Given the description of an element on the screen output the (x, y) to click on. 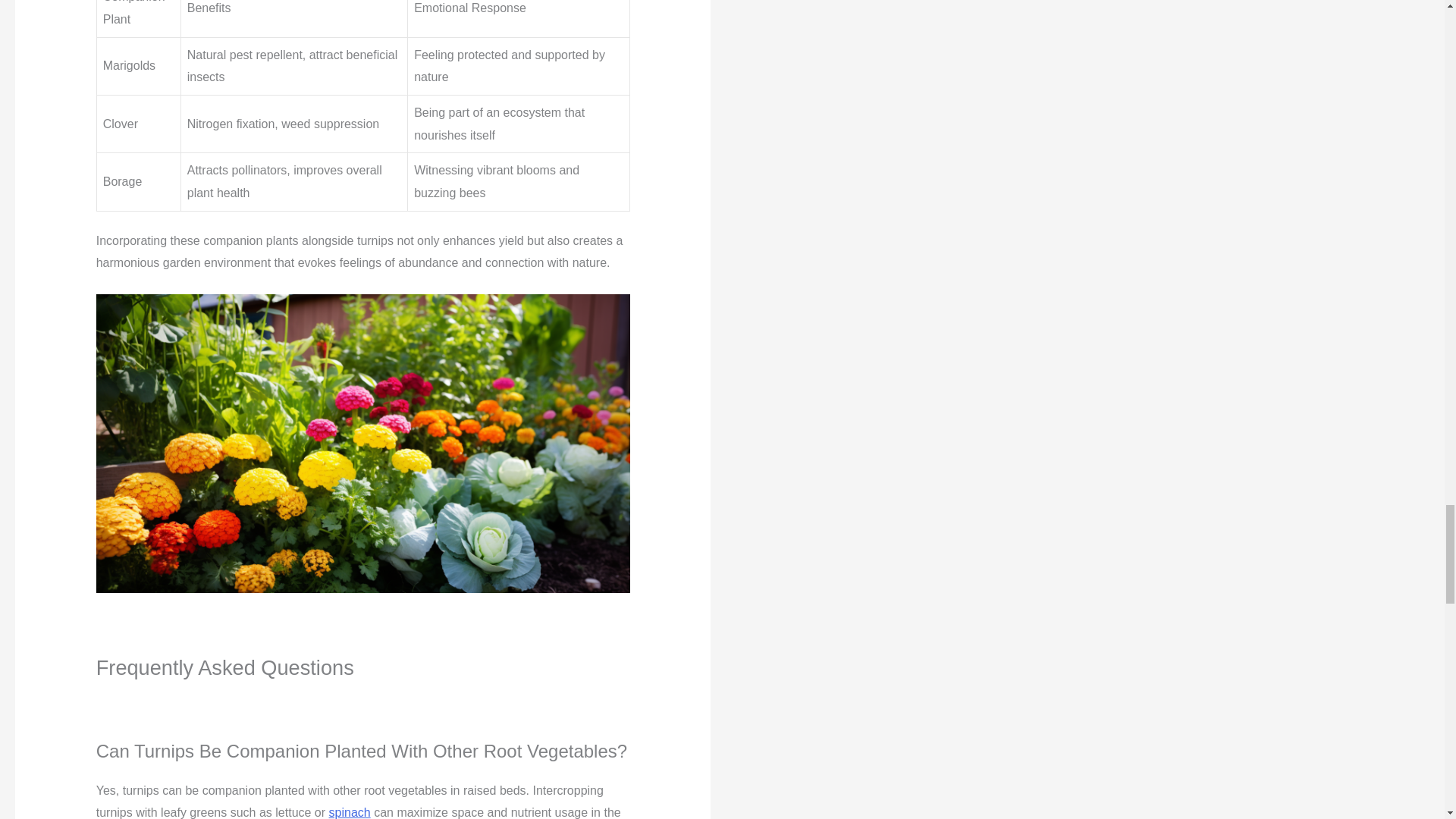
spinach (350, 812)
